Given the description of an element on the screen output the (x, y) to click on. 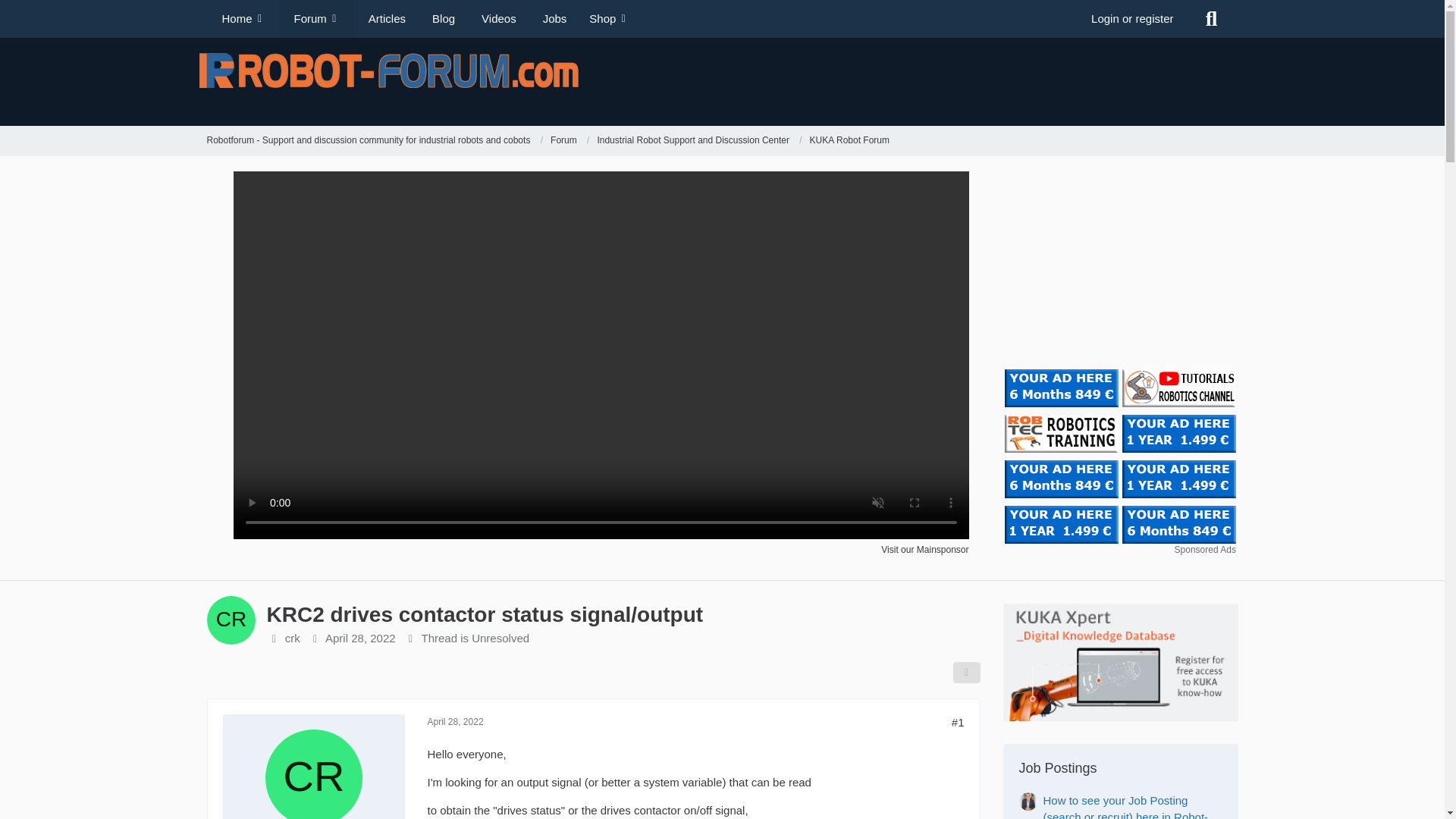
Blog (440, 18)
Your browser does not support videos (600, 534)
KUKA Robot Forum (849, 141)
Industrial Robot Support and Discussion Center (699, 141)
Articles (384, 18)
Jobs (552, 18)
Forum (563, 141)
Industrial Robot Support and Discussion Center (692, 141)
Advertisement (976, 79)
